Given the description of an element on the screen output the (x, y) to click on. 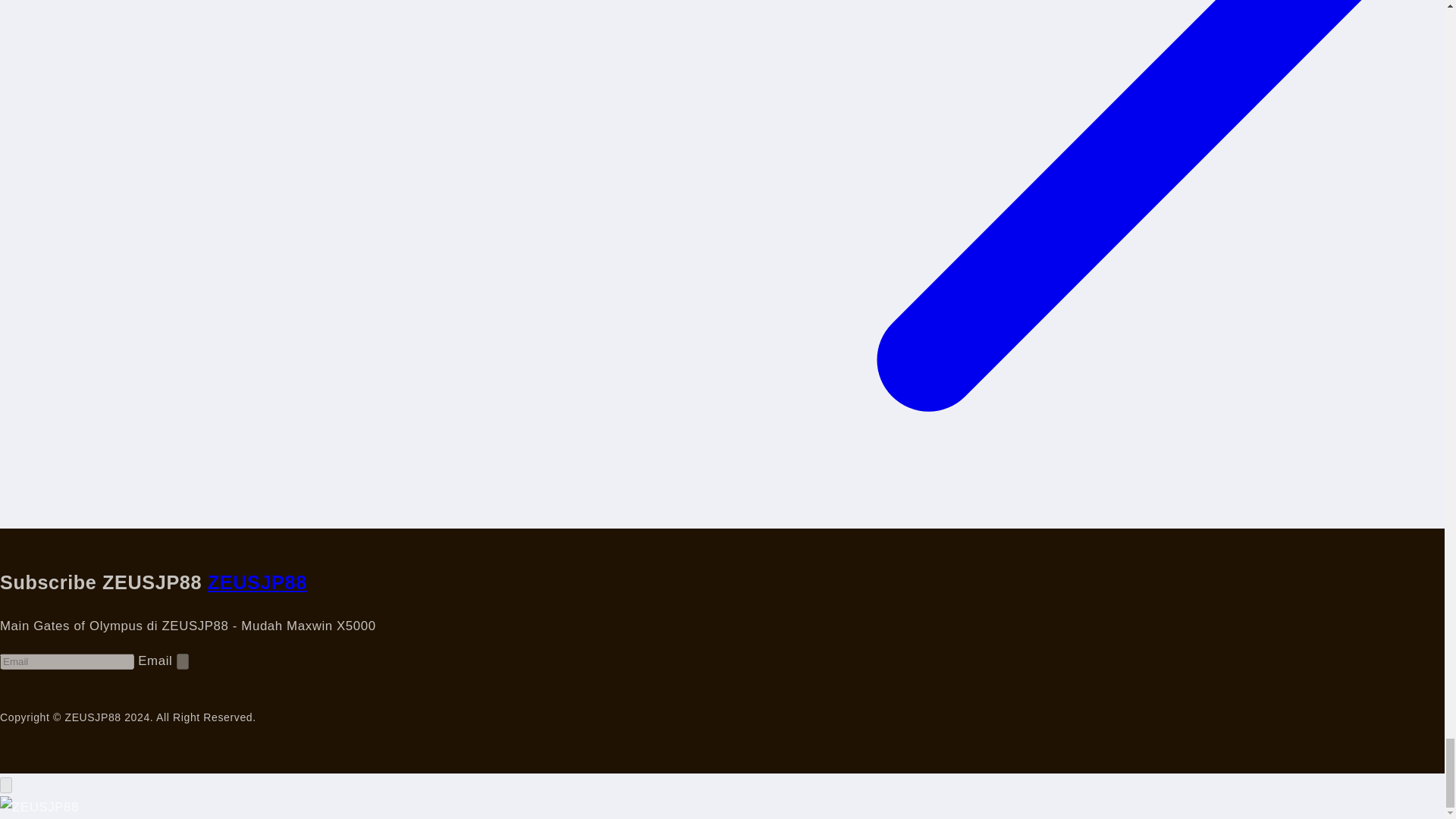
ZEUSJP88 (257, 581)
